Given the description of an element on the screen output the (x, y) to click on. 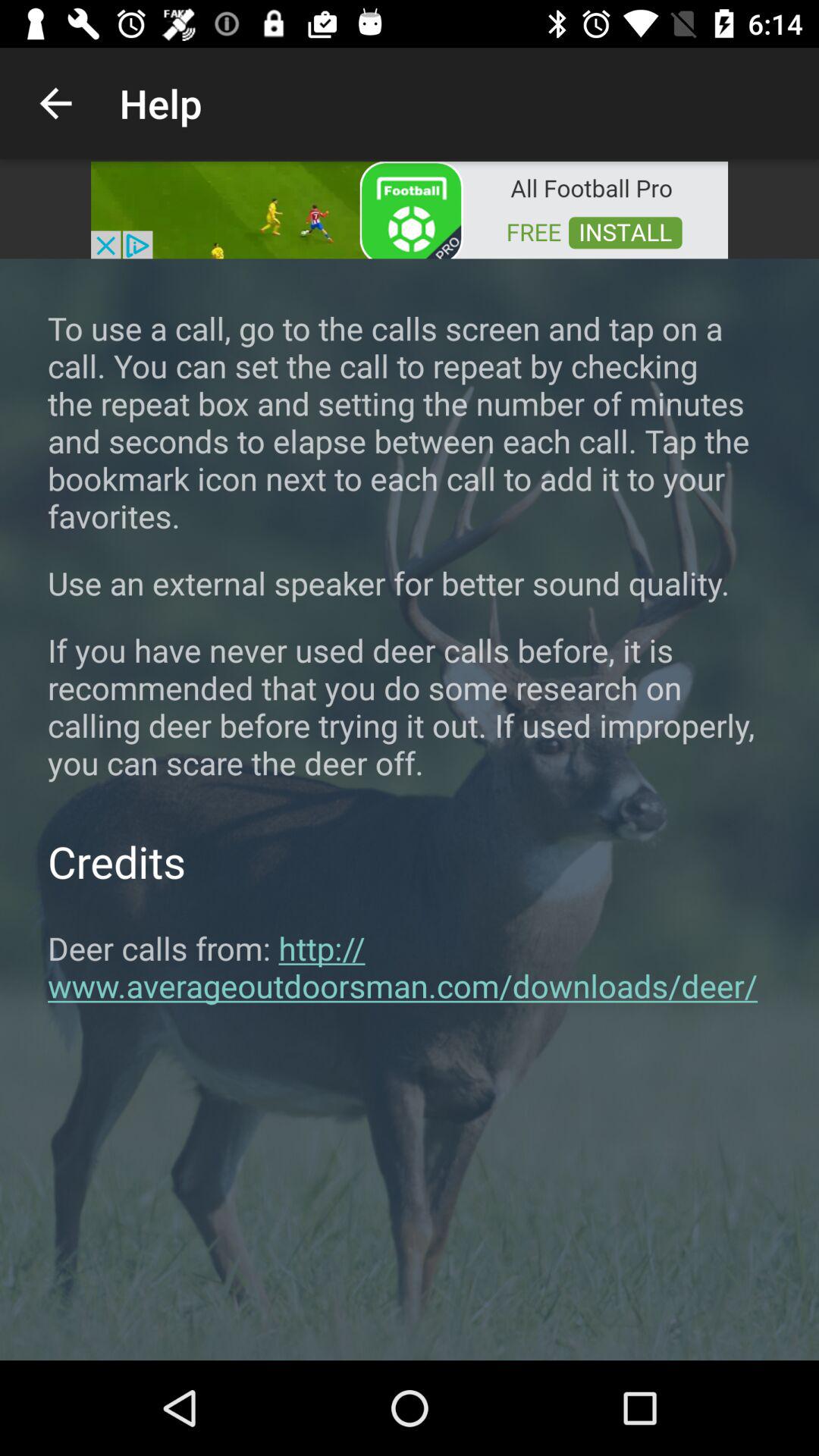
click on the advertisement (409, 208)
